Given the description of an element on the screen output the (x, y) to click on. 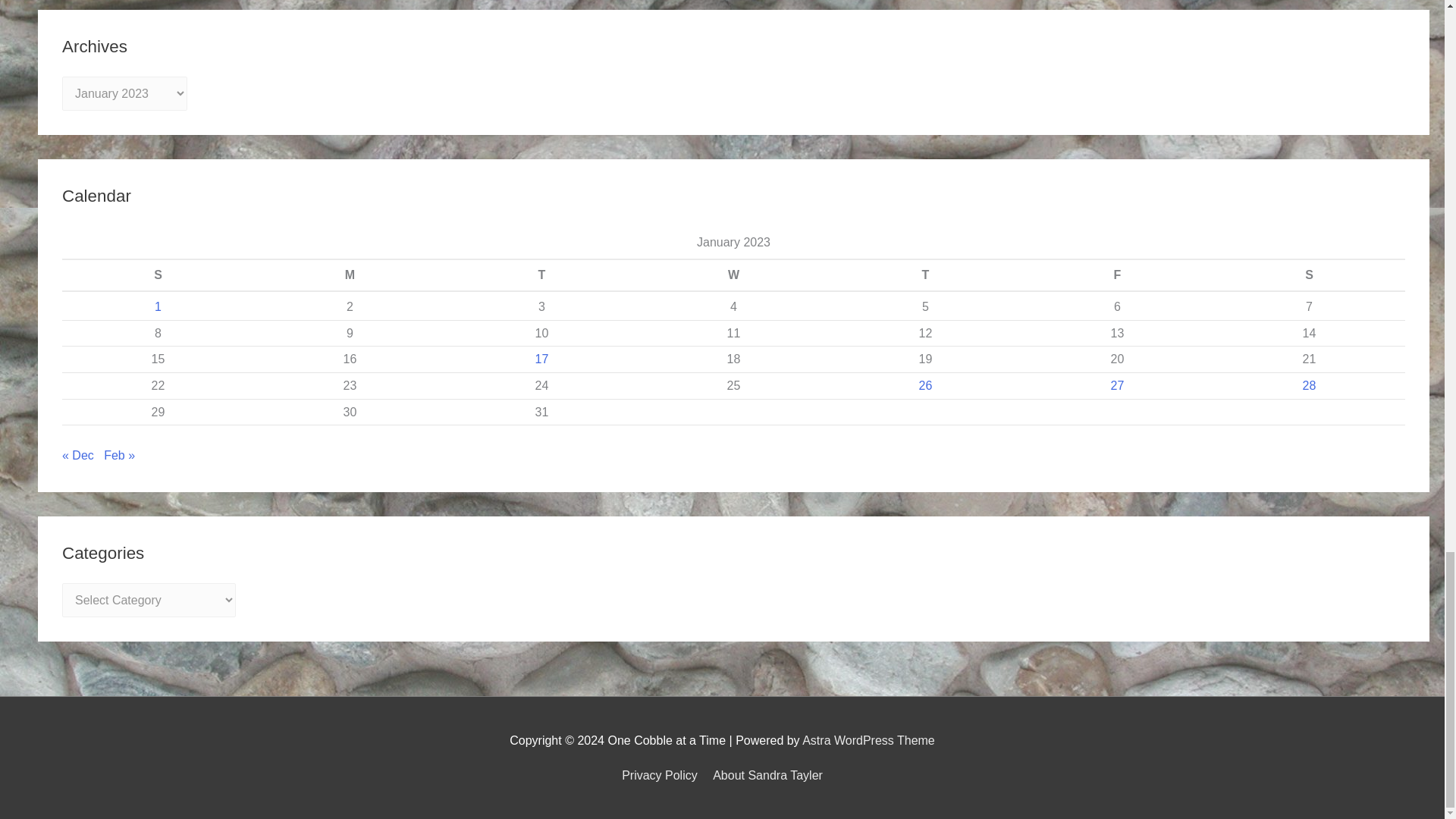
28 (1309, 385)
17 (541, 358)
Wednesday (733, 274)
26 (925, 385)
Tuesday (541, 274)
Sunday (157, 274)
Privacy Policy (662, 775)
Thursday (925, 274)
Friday (1117, 274)
Astra WordPress Theme (868, 739)
